Given the description of an element on the screen output the (x, y) to click on. 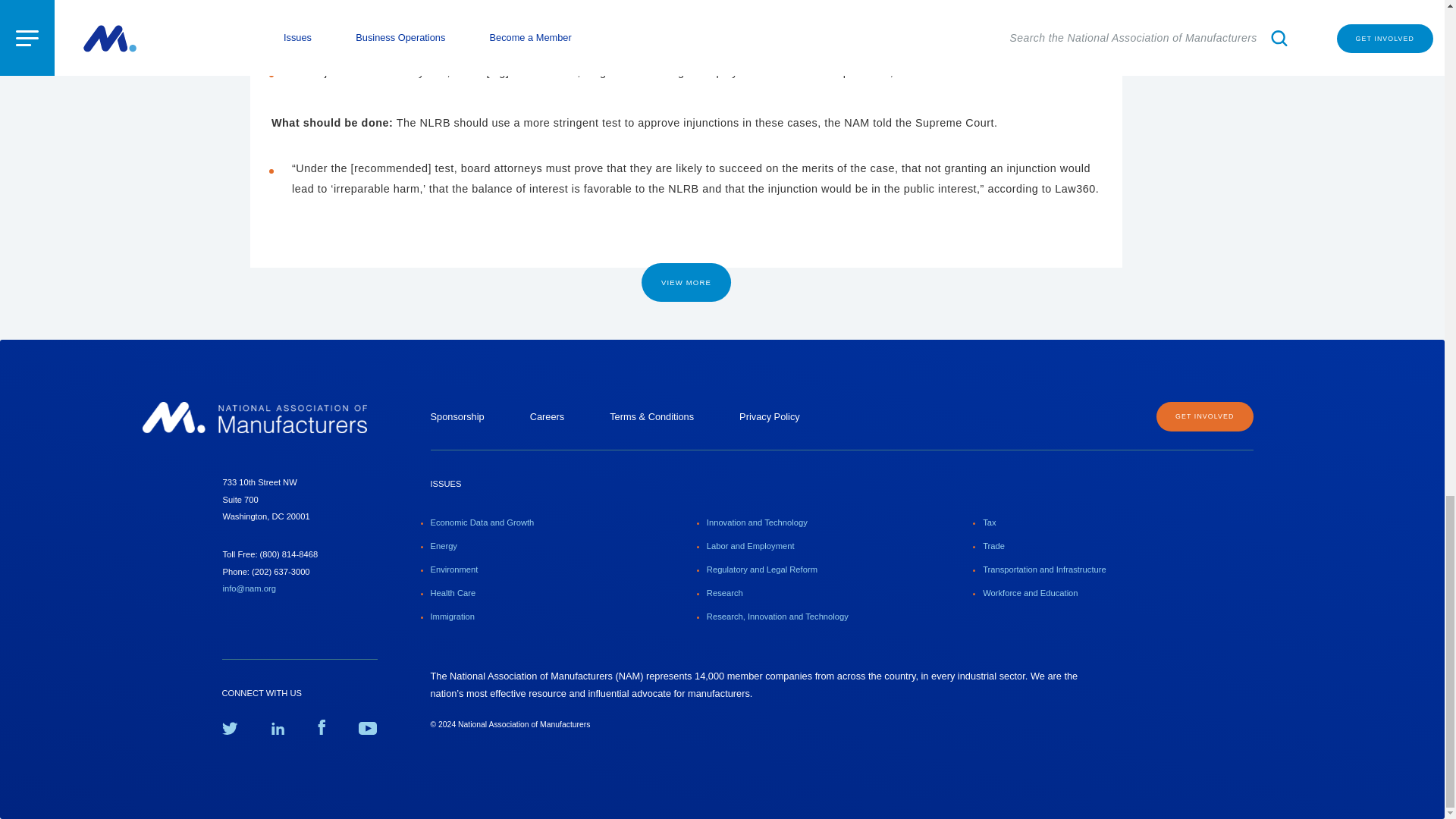
Economic Data and Growth (482, 522)
Careers (546, 416)
GET INVOLVED (1204, 416)
Privacy Policy (769, 416)
VIEW MORE (686, 282)
Sponsorship (457, 416)
